Given the description of an element on the screen output the (x, y) to click on. 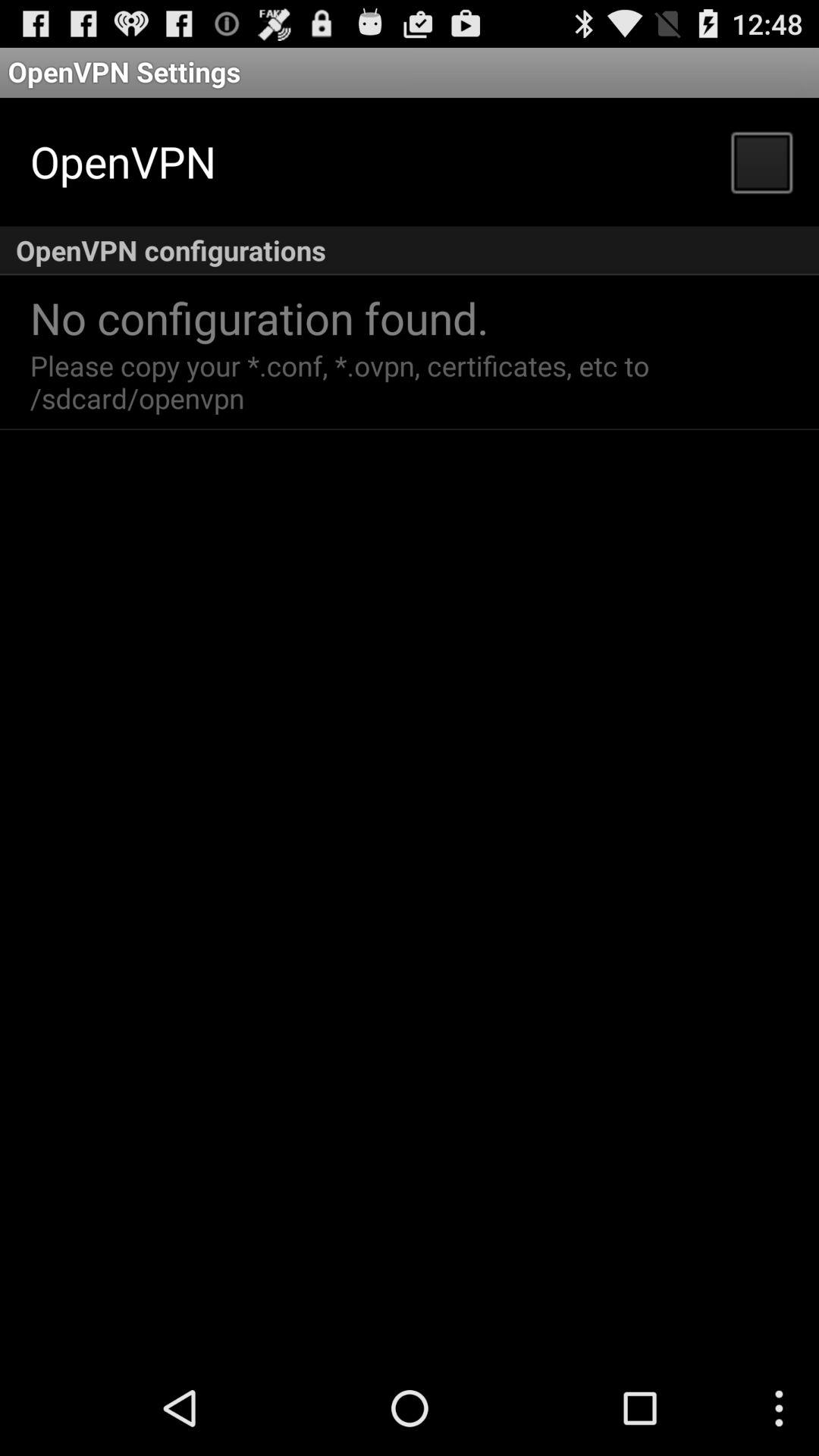
open item next to openvpn item (761, 161)
